Given the description of an element on the screen output the (x, y) to click on. 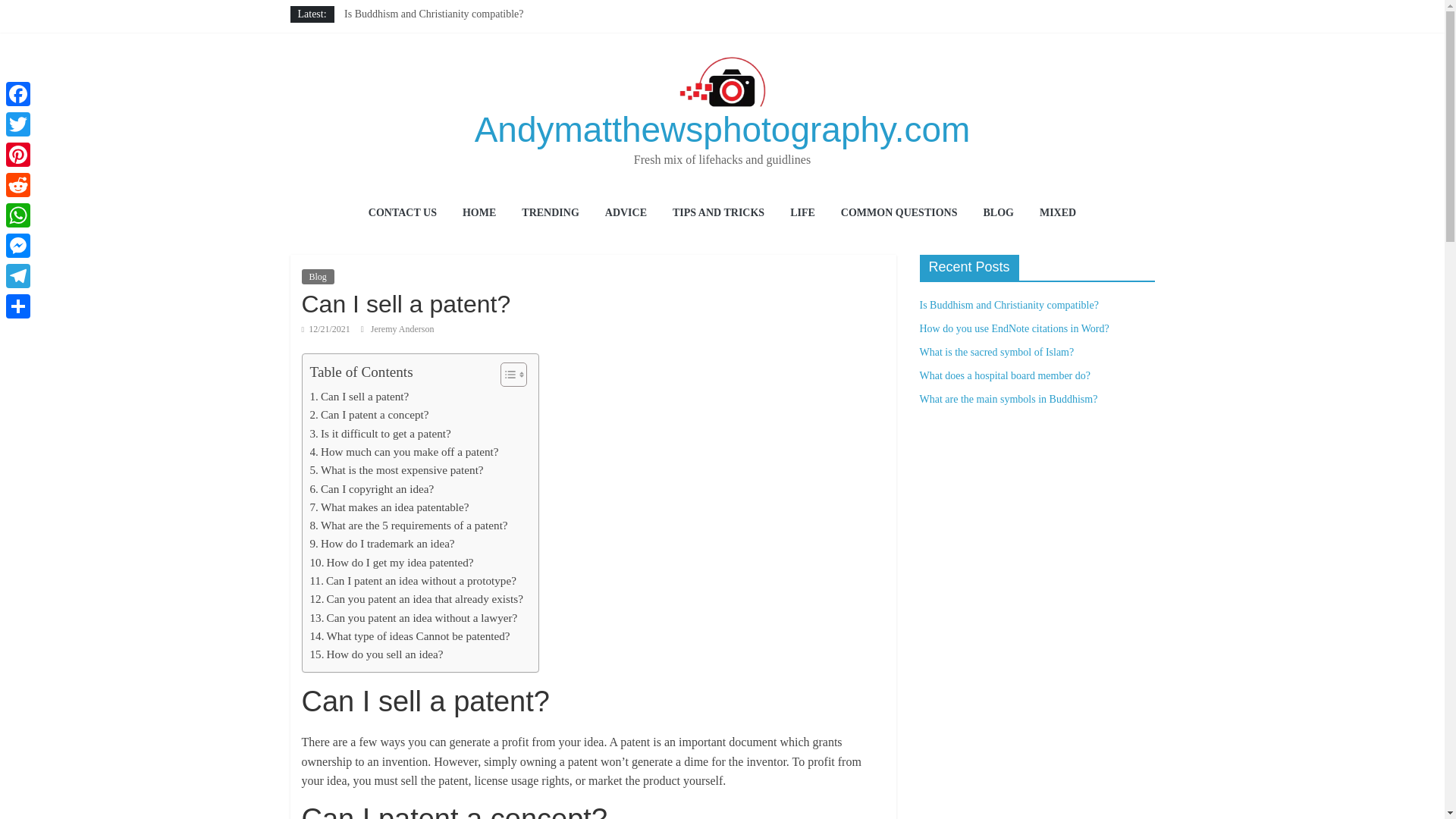
What type of ideas Cannot be patented? (408, 636)
Andymatthewsphotography.com (722, 129)
What are the 5 requirements of a patent? (407, 525)
Is Buddhism and Christianity compatible? (432, 13)
Can you patent an idea without a lawyer? (412, 618)
TIPS AND TRICKS (718, 213)
How much can you make off a patent? (402, 452)
Is it difficult to get a patent? (378, 434)
HOME (478, 213)
Is Buddhism and Christianity compatible? (432, 13)
